Given the description of an element on the screen output the (x, y) to click on. 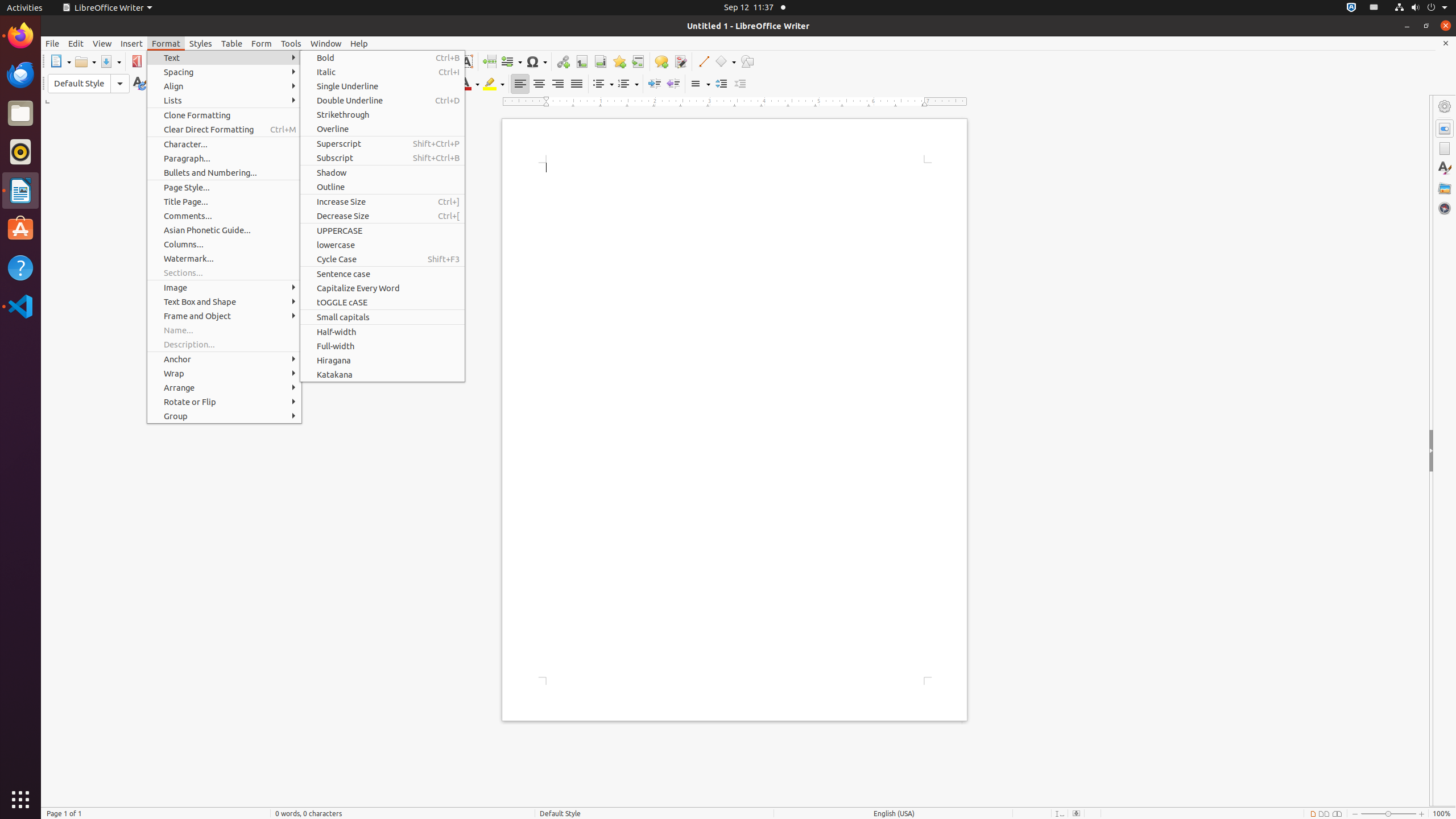
Justified Element type: toggle-button (576, 83)
Files Element type: push-button (20, 113)
tOGGLE cASE Element type: menu-item (382, 302)
Edit Element type: menu (75, 43)
Hyperlink Element type: toggle-button (562, 61)
